Given the description of an element on the screen output the (x, y) to click on. 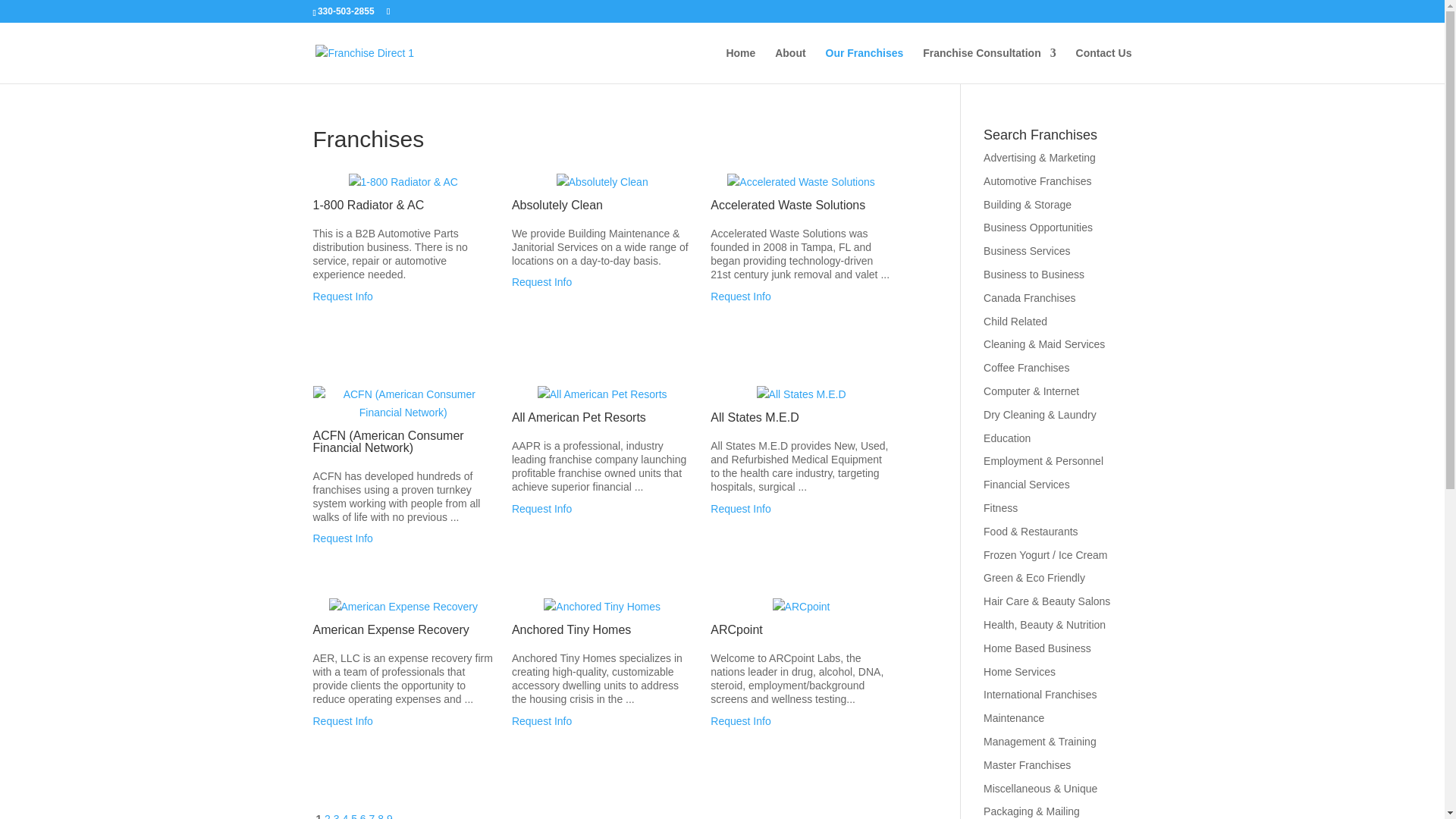
All States M.E.D (740, 508)
3 (336, 816)
Request Info (740, 296)
Absolutely Clean (542, 282)
All American Pet Resorts (542, 508)
American Expense Recovery (342, 721)
Anchored Tiny Homes (542, 721)
Contact Us (1103, 65)
6 (362, 816)
7 (372, 816)
330-503-2855 (345, 10)
Request Info (342, 721)
ARCpoint (740, 721)
Request Info (740, 508)
Request Info (542, 508)
